Given the description of an element on the screen output the (x, y) to click on. 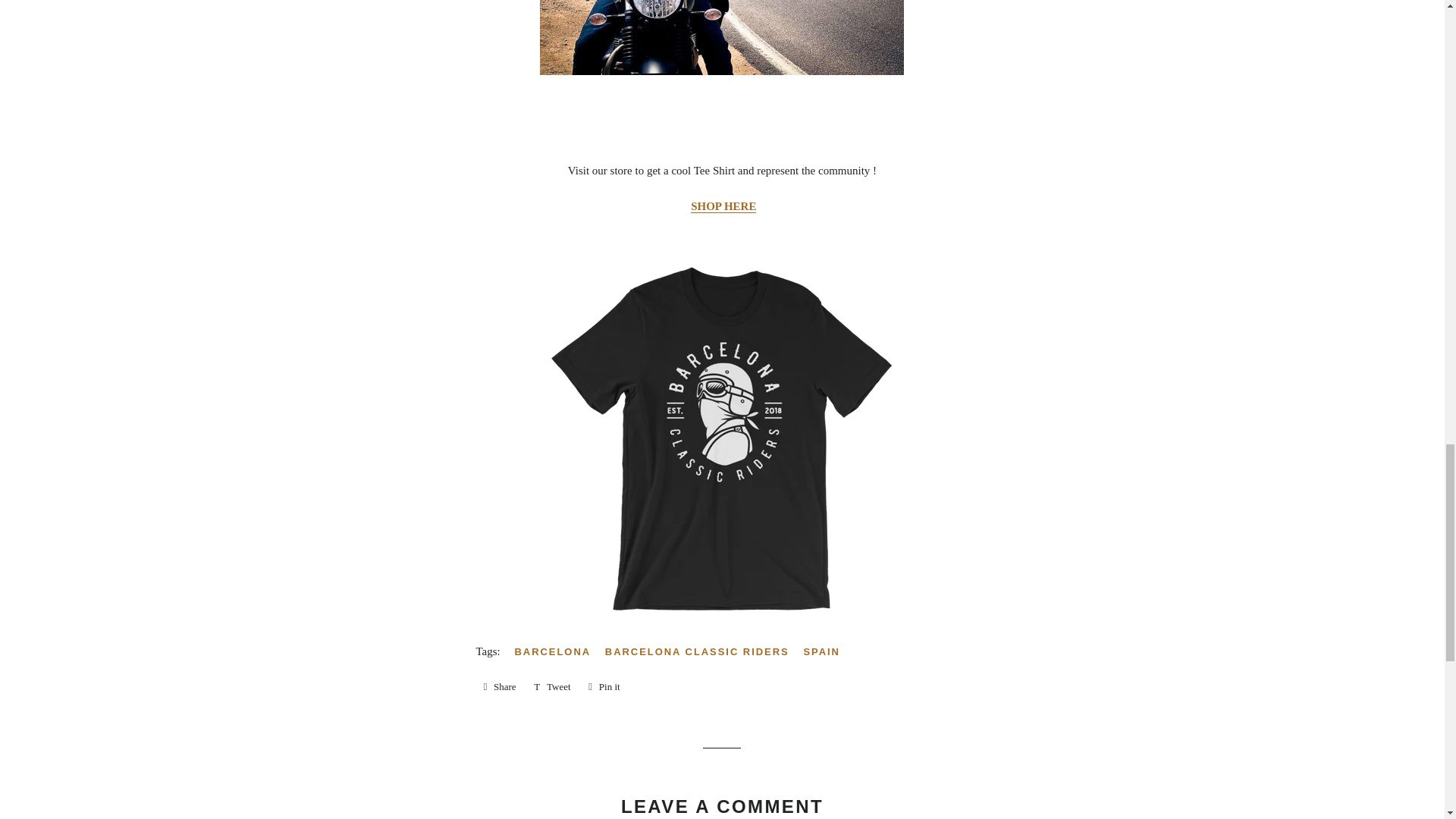
Pin on Pinterest (603, 686)
Share on Facebook (499, 686)
Tweet on Twitter (551, 686)
AARHUS CLASSIC RIDERS (722, 205)
